Given the description of an element on the screen output the (x, y) to click on. 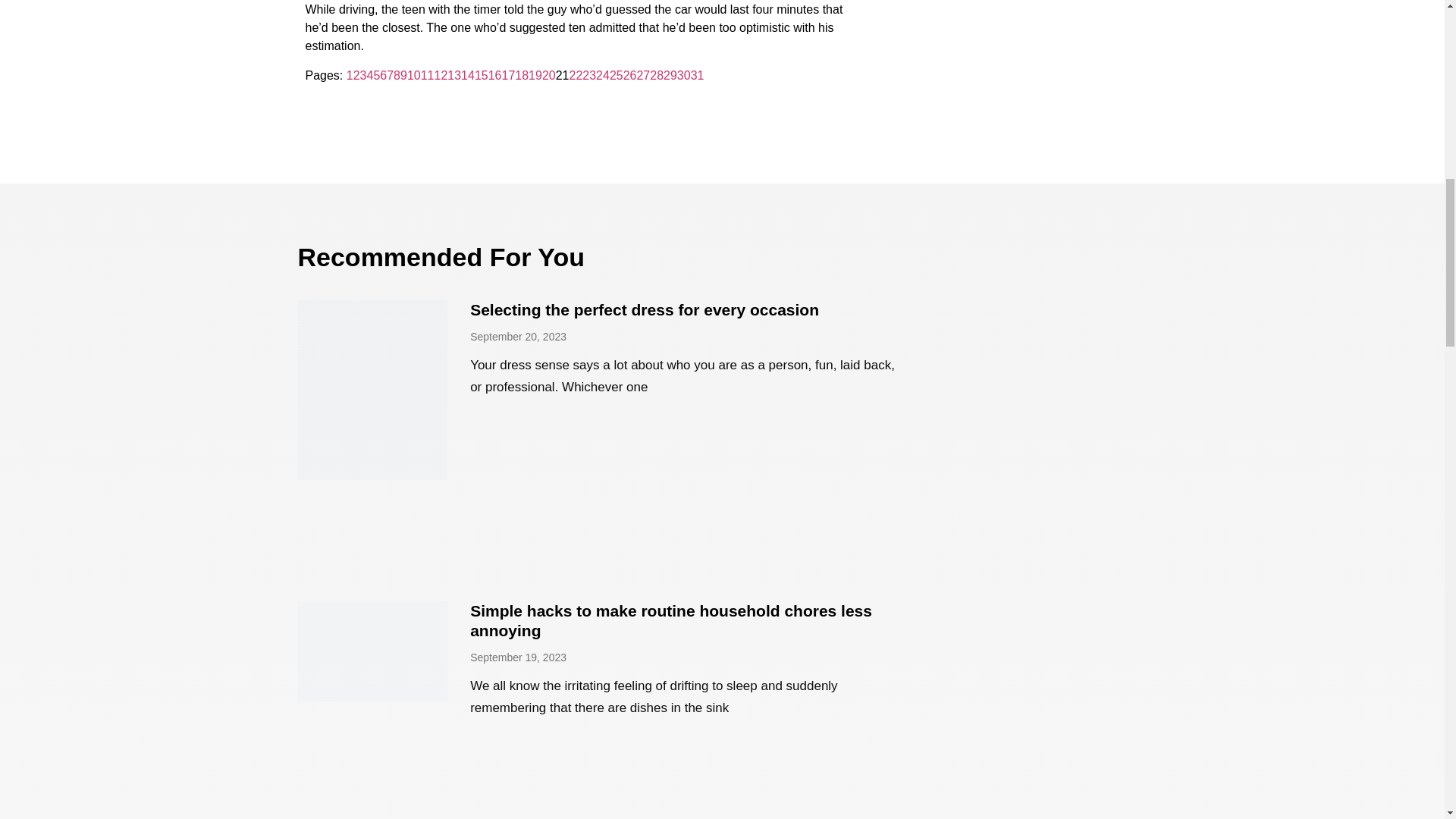
19 (534, 74)
11 (426, 74)
13 (453, 74)
17 (508, 74)
16 (494, 74)
10 (413, 74)
23 (588, 74)
14 (467, 74)
12 (440, 74)
18 (521, 74)
